Given the description of an element on the screen output the (x, y) to click on. 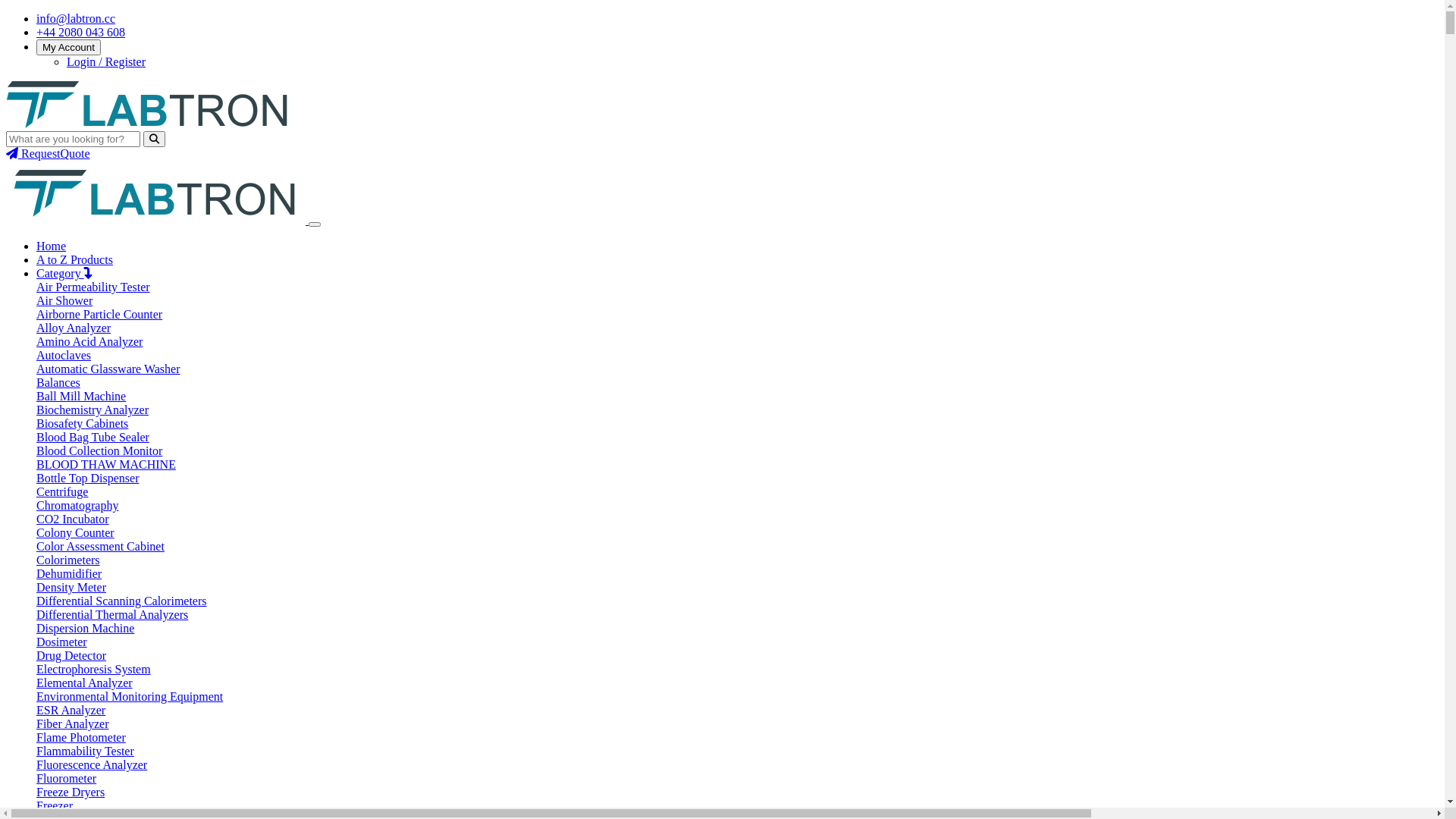
Air Shower Element type: text (64, 300)
Elemental Analyzer Element type: text (84, 682)
Drug Detector Element type: text (71, 655)
Autoclaves Element type: text (63, 354)
Differential Thermal Analyzers Element type: text (112, 614)
Fluorescence Analyzer Element type: text (91, 764)
Environmental Monitoring Equipment Element type: text (129, 696)
Bottle Top Dispenser Element type: text (87, 477)
Blood Bag Tube Sealer Element type: text (92, 436)
Density Meter Element type: text (71, 586)
Fiber Analyzer Element type: text (72, 723)
Dehumidifier Element type: text (68, 573)
Differential Scanning Calorimeters Element type: text (121, 600)
Freezer Element type: text (54, 805)
Ball Mill Machine Element type: text (80, 395)
Dispersion Machine Element type: text (85, 627)
Automatic Glassware Washer Element type: text (107, 368)
CO2 Incubator Element type: text (72, 518)
Login / Register Element type: text (105, 61)
Alloy Analyzer Element type: text (73, 327)
+44 2080 043 608 Element type: text (80, 31)
Balances Element type: text (58, 382)
Flame Photometer Element type: text (80, 737)
Centrifuge Element type: text (61, 491)
Flammability Tester Element type: text (85, 750)
Chromatography Element type: text (77, 504)
Colorimeters Element type: text (68, 559)
BLOOD THAW MACHINE Element type: text (105, 464)
Airborne Particle Counter Element type: text (99, 313)
RequestQuote Element type: text (48, 153)
Colony Counter Element type: text (75, 532)
Home Element type: text (50, 245)
Dosimeter Element type: text (61, 641)
A to Z Products Element type: text (74, 259)
Color Assessment Cabinet Element type: text (100, 545)
Category Element type: text (64, 272)
ESR Analyzer Element type: text (70, 709)
Amino Acid Analyzer Element type: text (89, 341)
My Account Element type: text (68, 47)
Biosafety Cabinets Element type: text (82, 423)
info@labtron.cc Element type: text (75, 18)
Biochemistry Analyzer Element type: text (92, 409)
Freeze Dryers Element type: text (70, 791)
Blood Collection Monitor Element type: text (99, 450)
Electrophoresis System Element type: text (93, 668)
Air Permeability Tester Element type: text (93, 286)
Fluorometer Element type: text (66, 777)
